Given the description of an element on the screen output the (x, y) to click on. 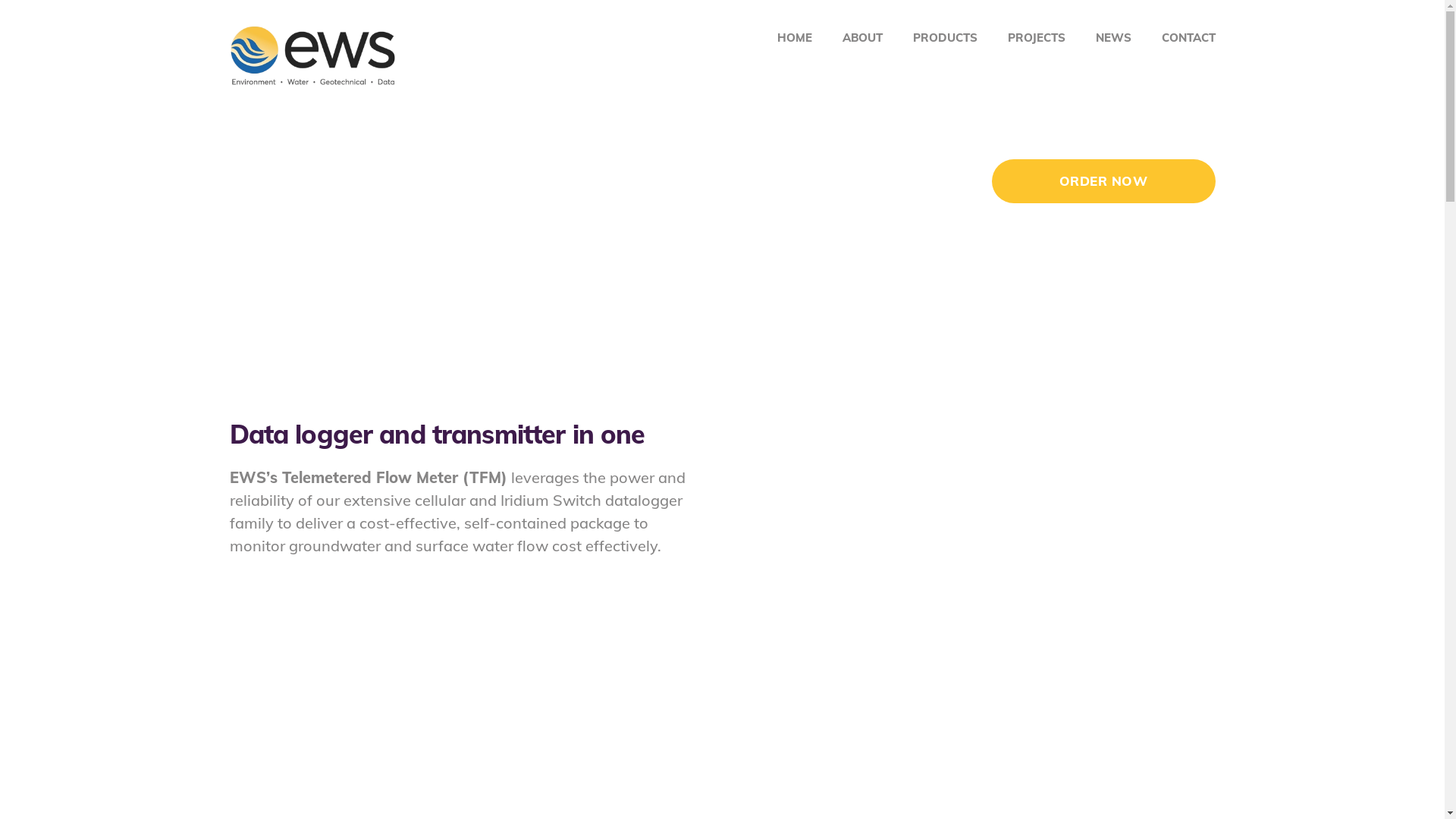
HOME Element type: text (793, 37)
ABOUT Element type: text (861, 37)
PRODUCTS Element type: text (944, 37)
PROJECTS Element type: text (1035, 37)
ORDER NOW Element type: text (1103, 181)
CONTACT Element type: text (1188, 37)
NEWS Element type: text (1112, 37)
